Given the description of an element on the screen output the (x, y) to click on. 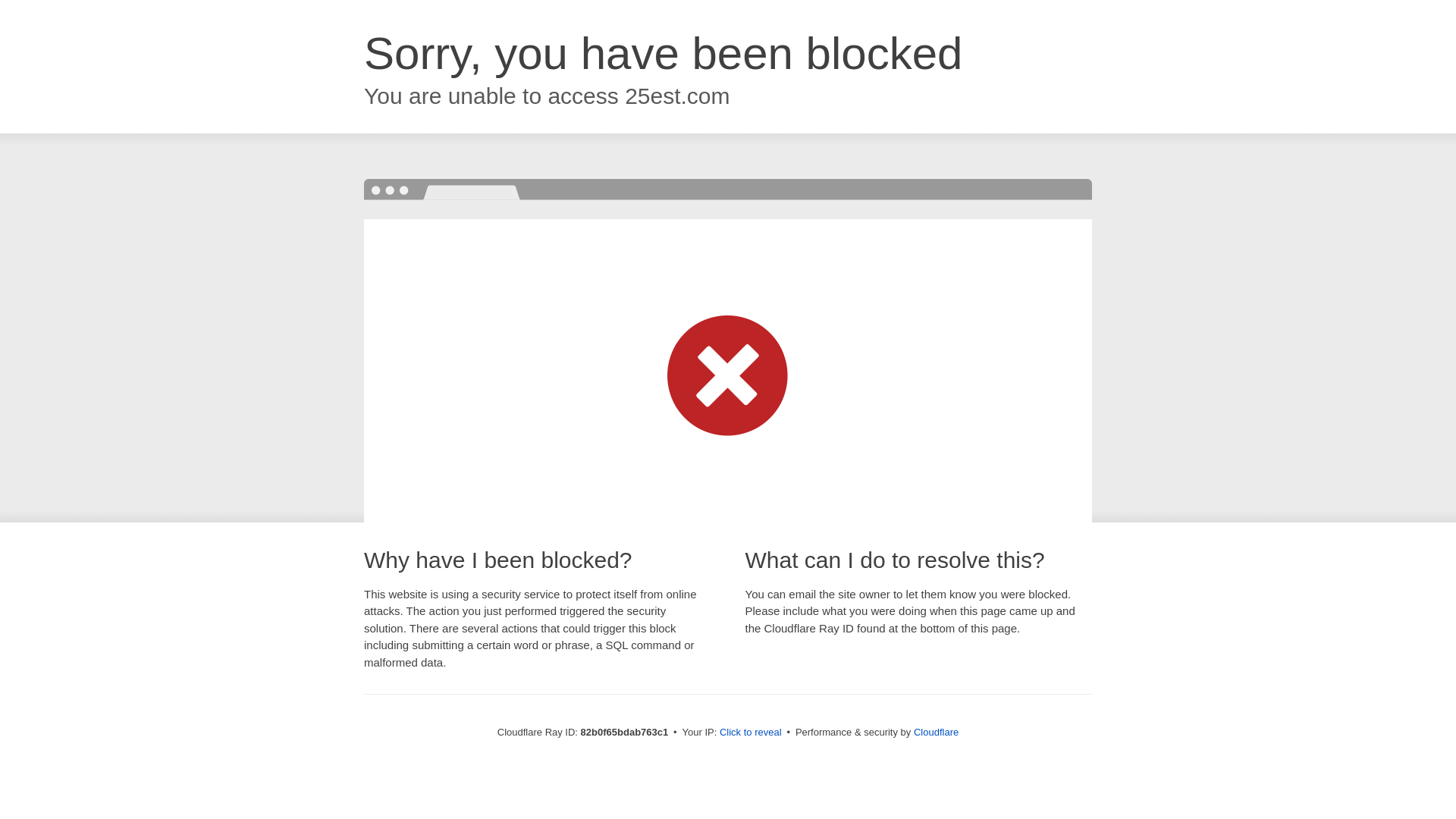
Cloudflare Element type: text (935, 731)
Click to reveal Element type: text (750, 732)
